Given the description of an element on the screen output the (x, y) to click on. 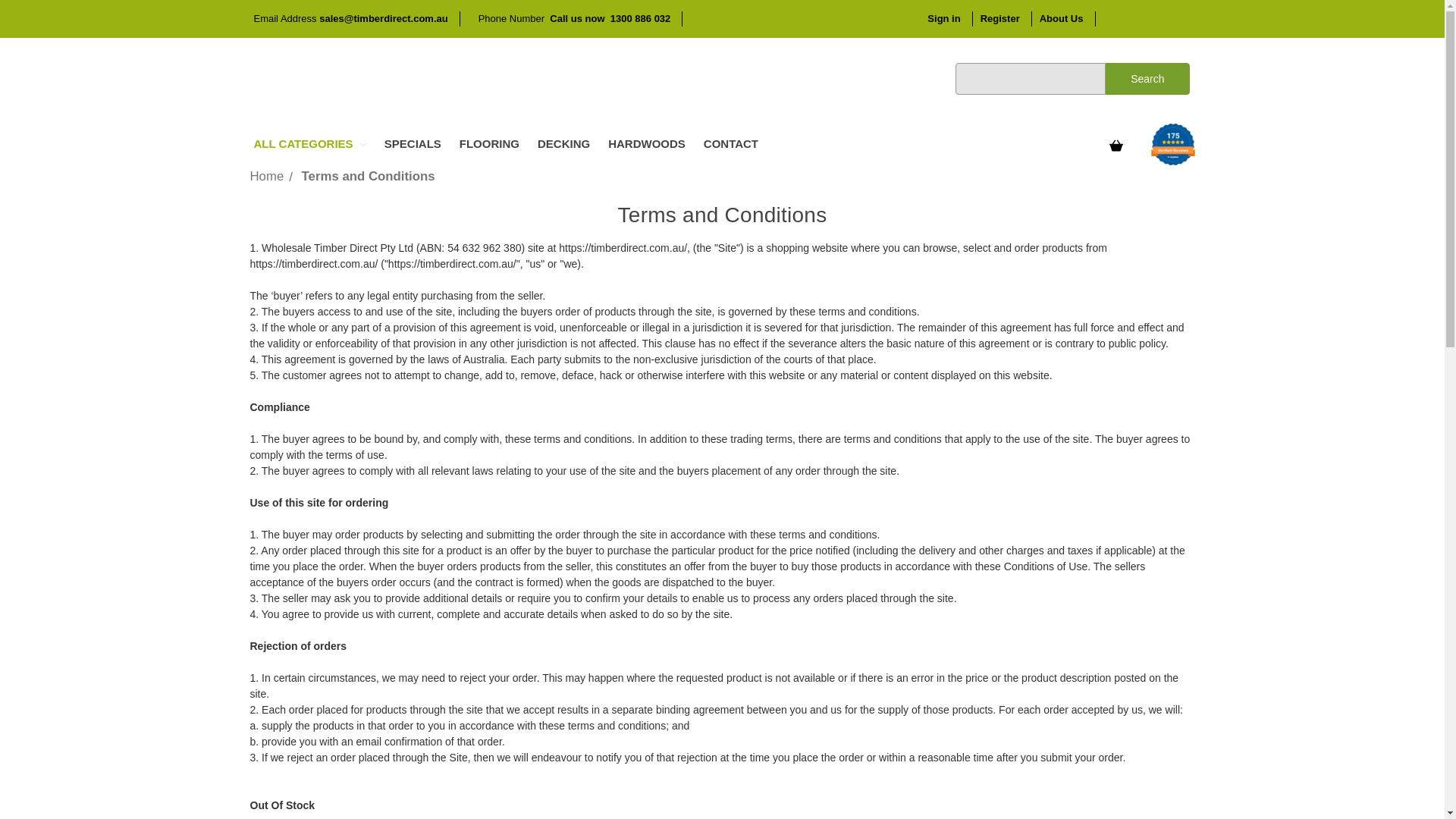
ALL CATEGORIES (309, 144)
Search (1147, 79)
 1300 886 032 (638, 18)
Sign in (949, 18)
About Us (1067, 18)
Search (1147, 79)
Register (1005, 18)
